Given the description of an element on the screen output the (x, y) to click on. 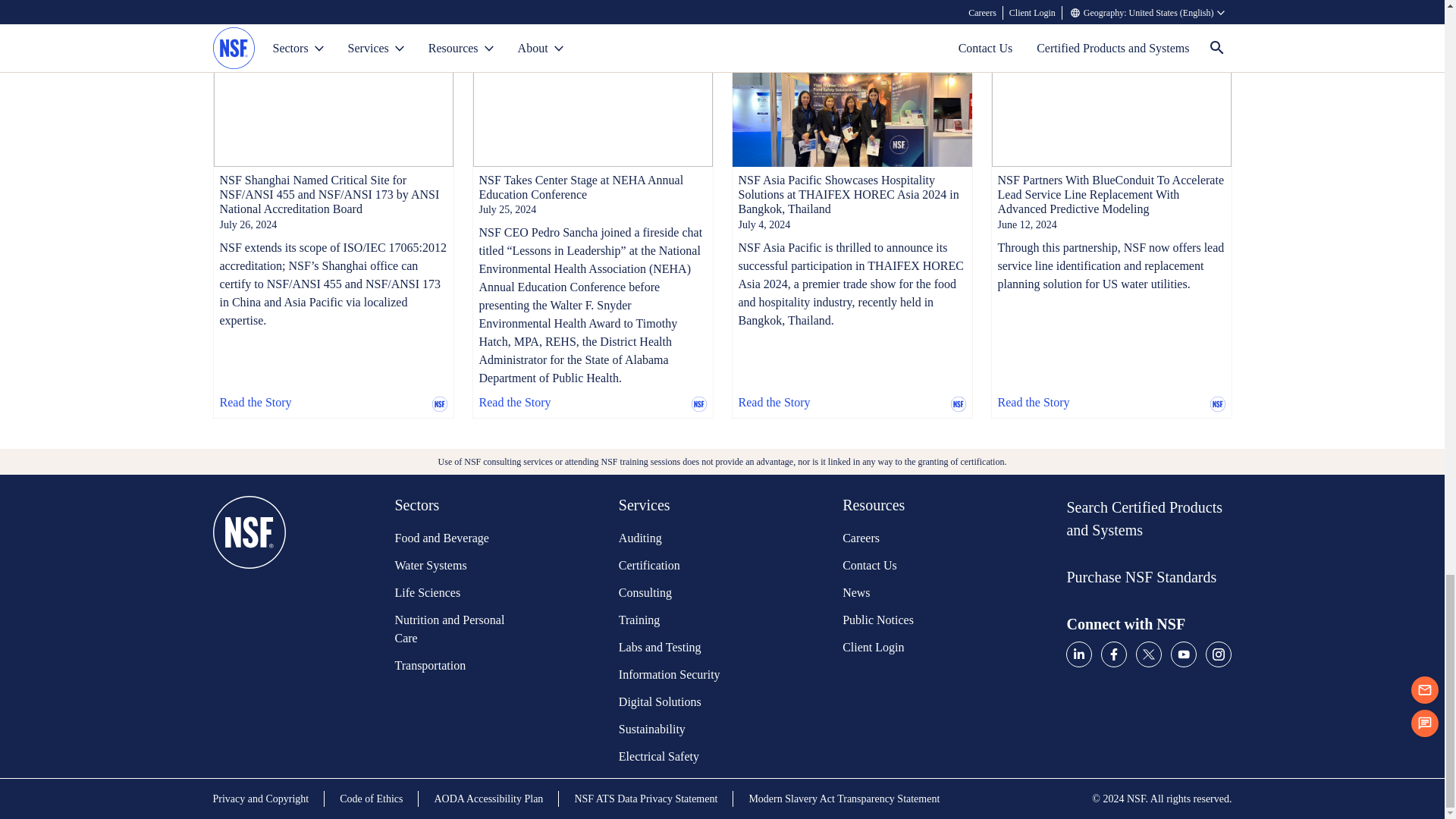
twitter (1148, 654)
instagram (1218, 654)
facebook (1113, 654)
Life Sciences (451, 592)
Food and Beverage (451, 538)
Nutrition and Personal Care (451, 628)
linkedin (1078, 654)
Water Systems (451, 565)
NSF Logo (248, 630)
youtube (1183, 654)
Transportation (451, 665)
